Given the description of an element on the screen output the (x, y) to click on. 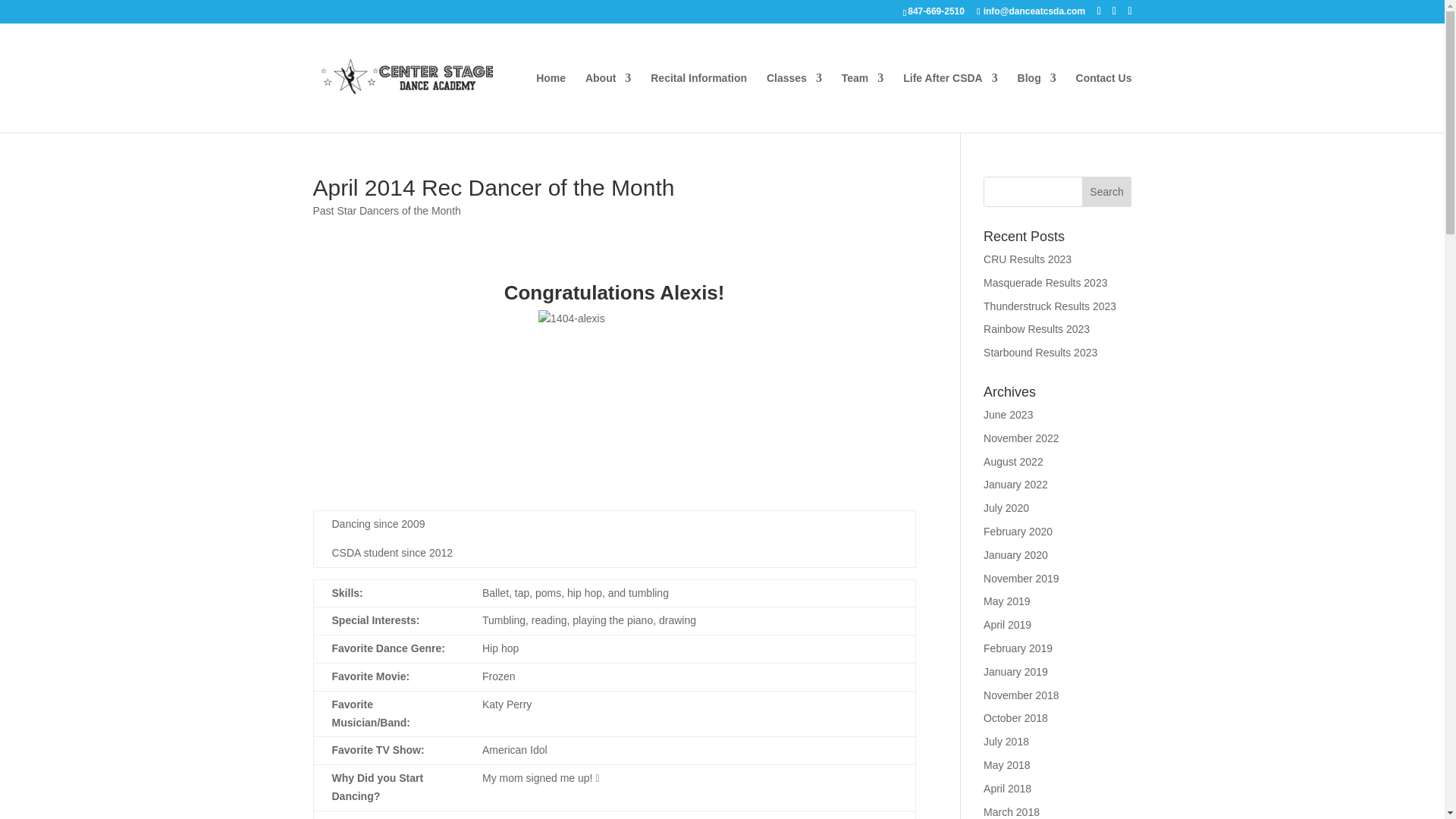
Life After CSDA (949, 102)
Contact Us (1103, 102)
Recital Information (698, 102)
Classes (794, 102)
Search (1106, 191)
